Given the description of an element on the screen output the (x, y) to click on. 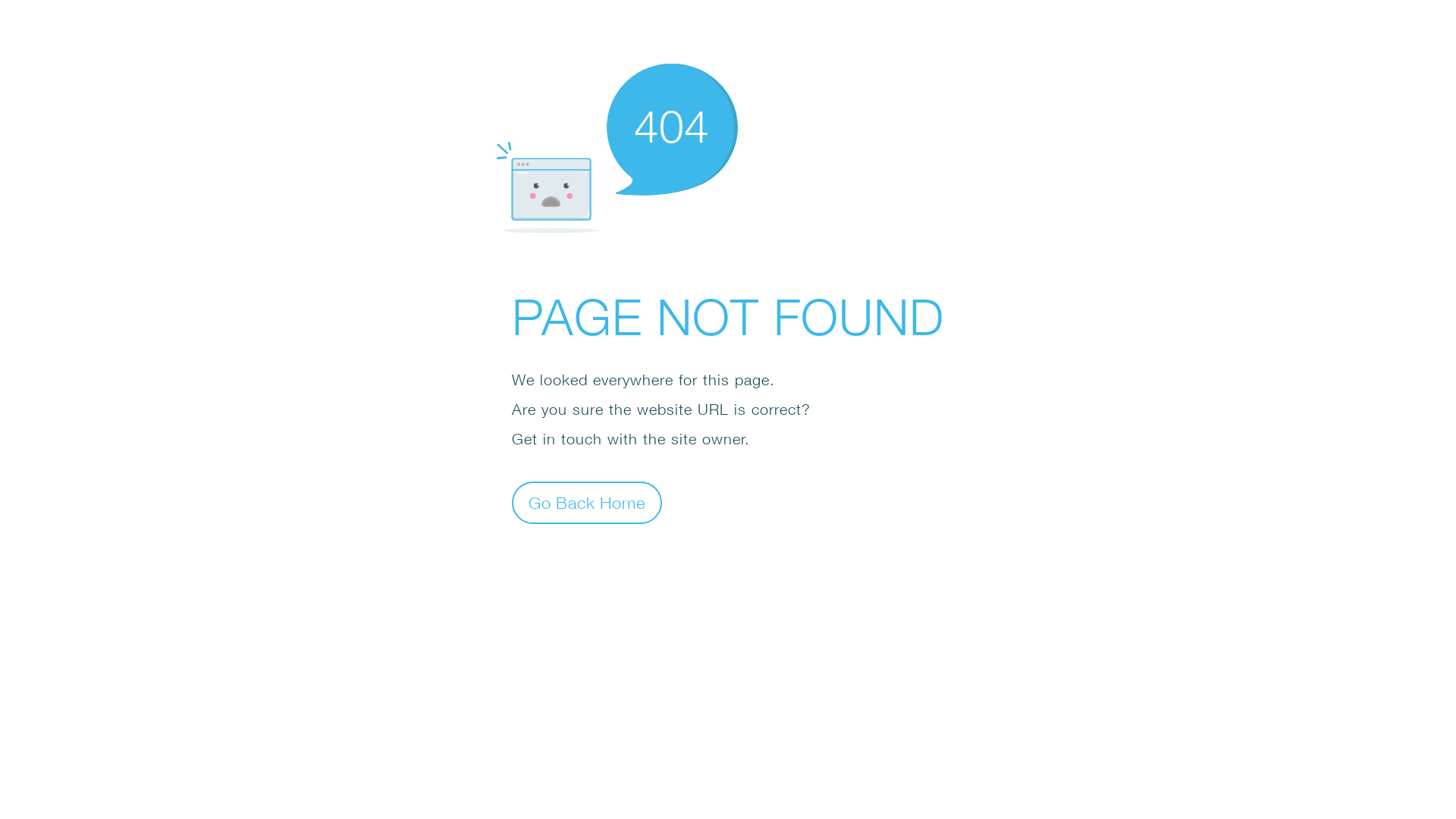
Go Back Home Element type: text (586, 502)
